Given the description of an element on the screen output the (x, y) to click on. 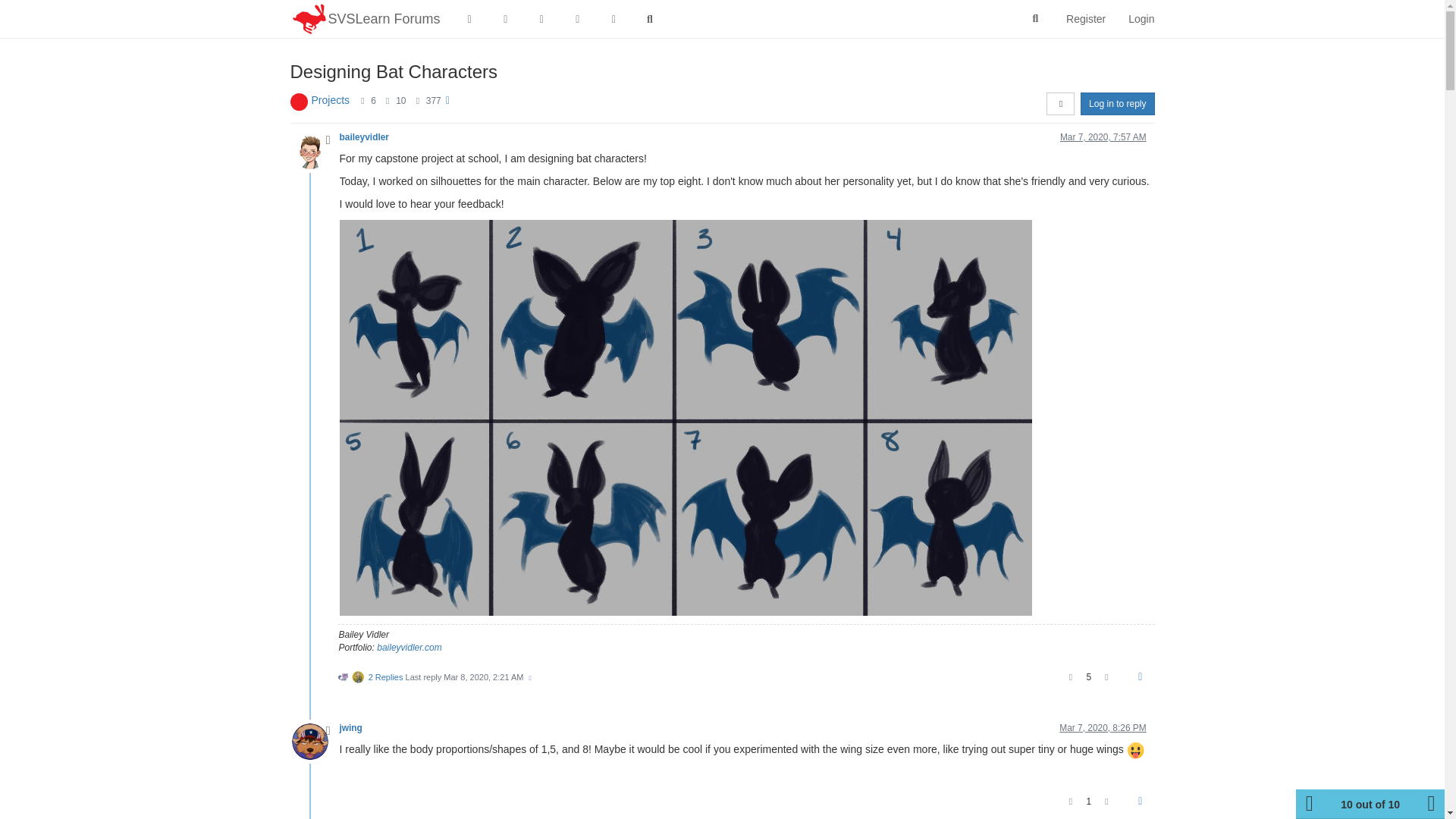
Projects (330, 100)
Mar 7, 2020, 7:57 AM (1103, 136)
Register (1085, 18)
Log in to reply (1117, 103)
baileyvidler (363, 136)
Login (1141, 18)
Search (1035, 18)
